Given the description of an element on the screen output the (x, y) to click on. 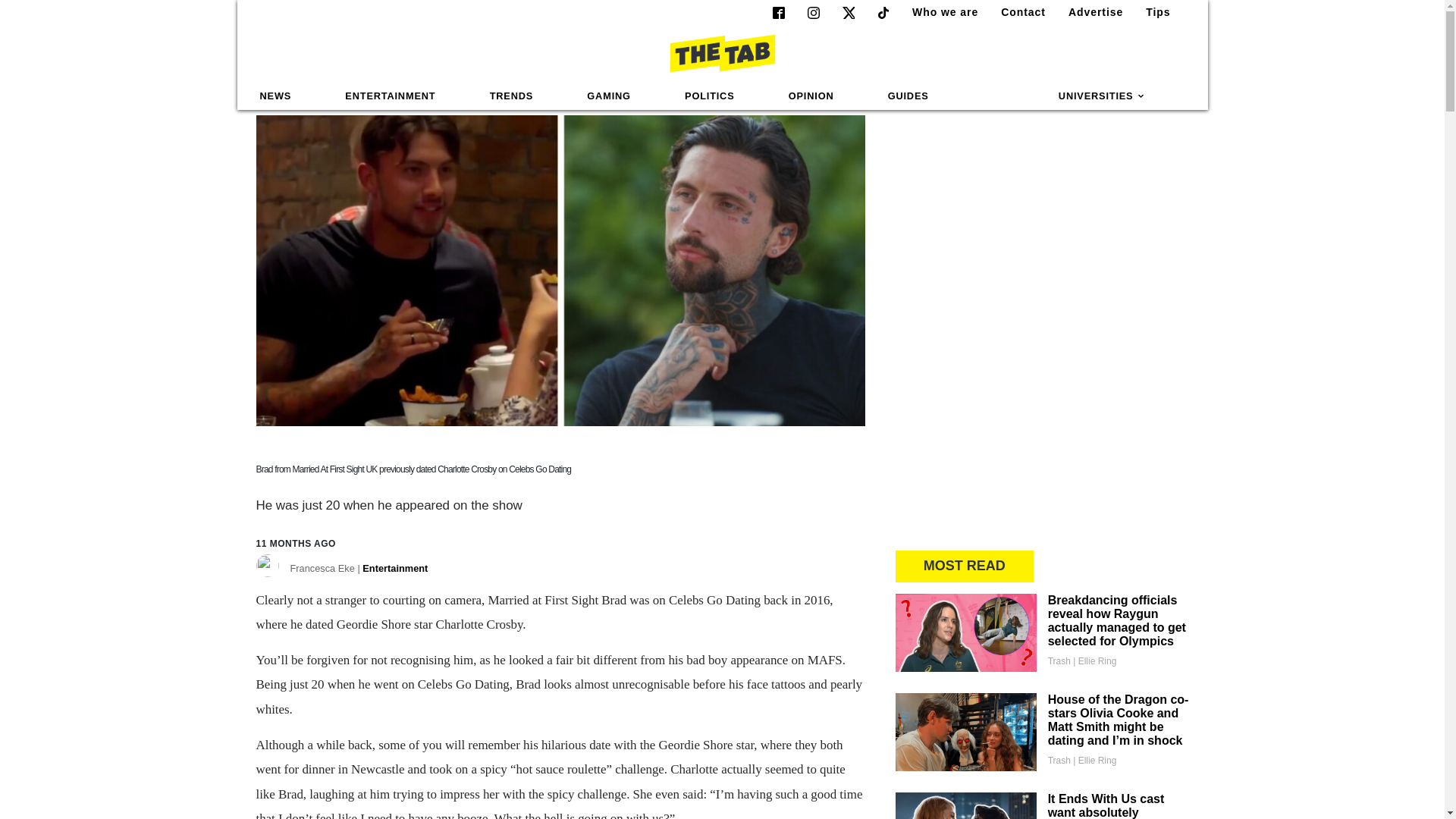
UNIVERSITIES (1101, 96)
OPINION (811, 96)
NEWS (275, 96)
ENTERTAINMENT (389, 96)
Contact (1016, 11)
TRENDS (511, 96)
Tips (1152, 11)
POLITICS (708, 96)
GUIDES (908, 96)
Posts by Francesca Eke (358, 571)
